Given the description of an element on the screen output the (x, y) to click on. 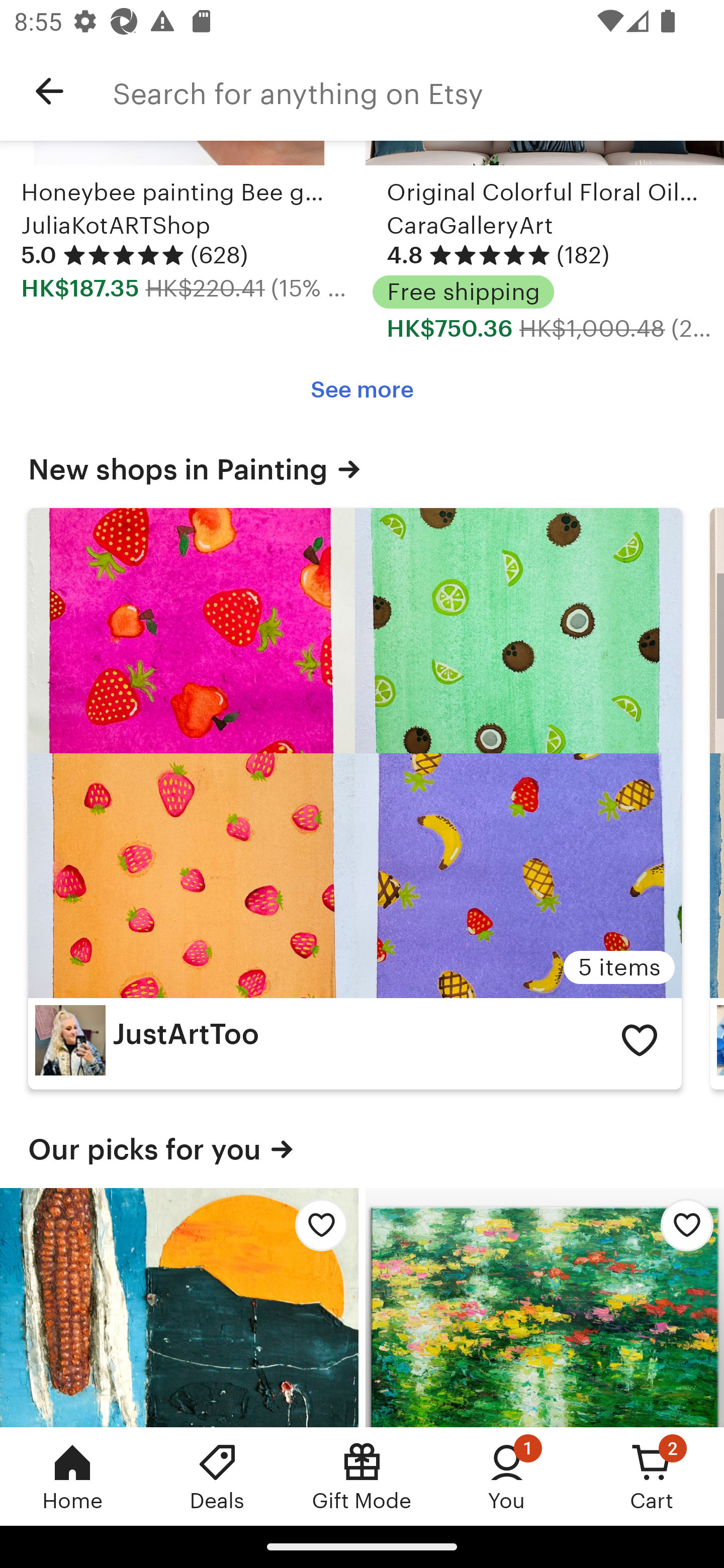
Navigate up (49, 91)
Search for anything on Etsy (418, 91)
See more See more Trending in Painting (361, 389)
New shops in Painting  (361, 469)
Our picks for you  (361, 1149)
Deals (216, 1475)
Gift Mode (361, 1475)
You, 1 new notification You (506, 1475)
Cart, 2 new notifications Cart (651, 1475)
